Given the description of an element on the screen output the (x, y) to click on. 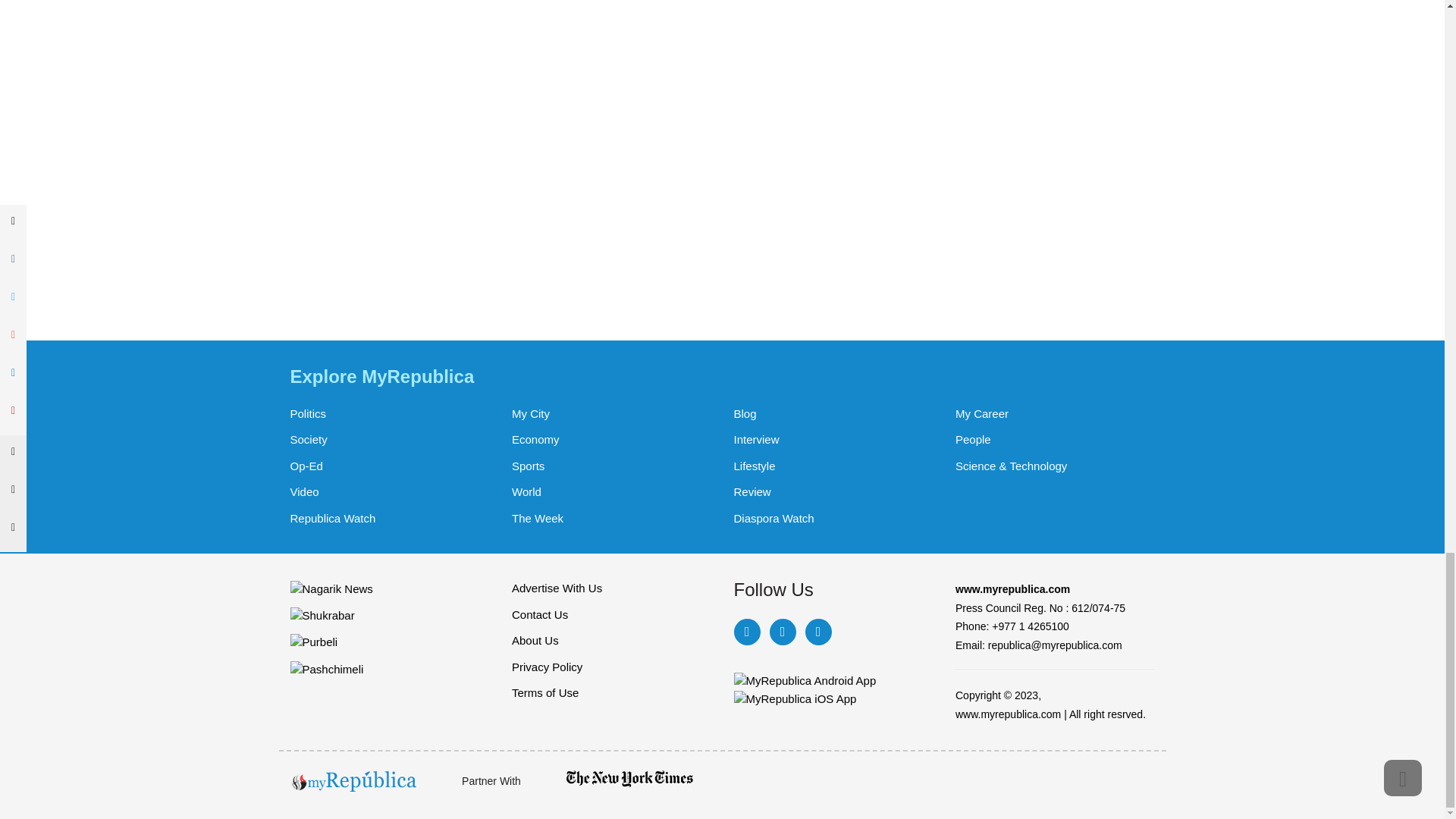
Twitter (781, 632)
Youtube (818, 632)
Facebook (746, 632)
